Given the description of an element on the screen output the (x, y) to click on. 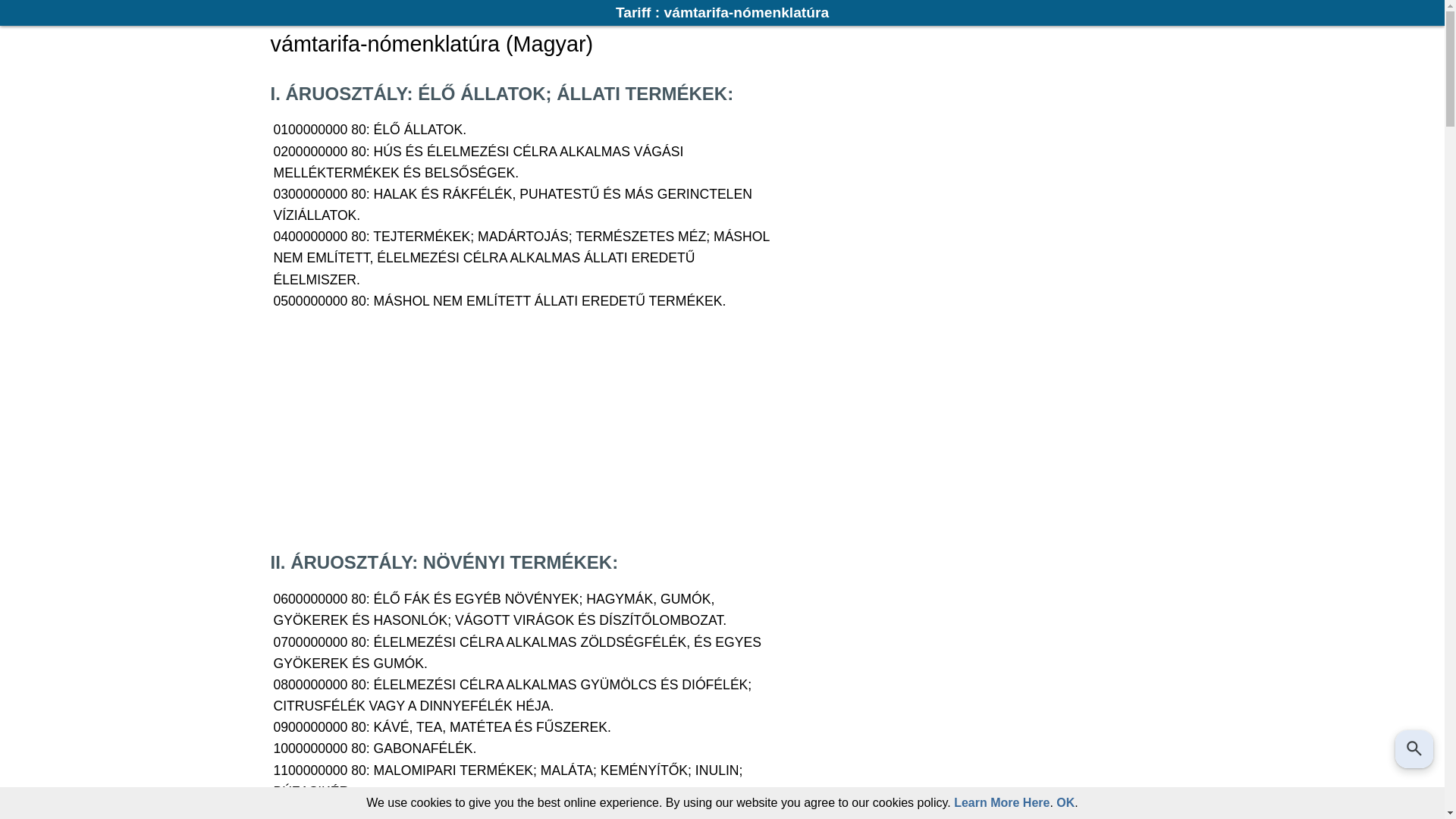
OK Element type: text (1065, 802)
Advertisement Element type: hover (721, 430)
Learn More Here Element type: text (1001, 802)
